Given the description of an element on the screen output the (x, y) to click on. 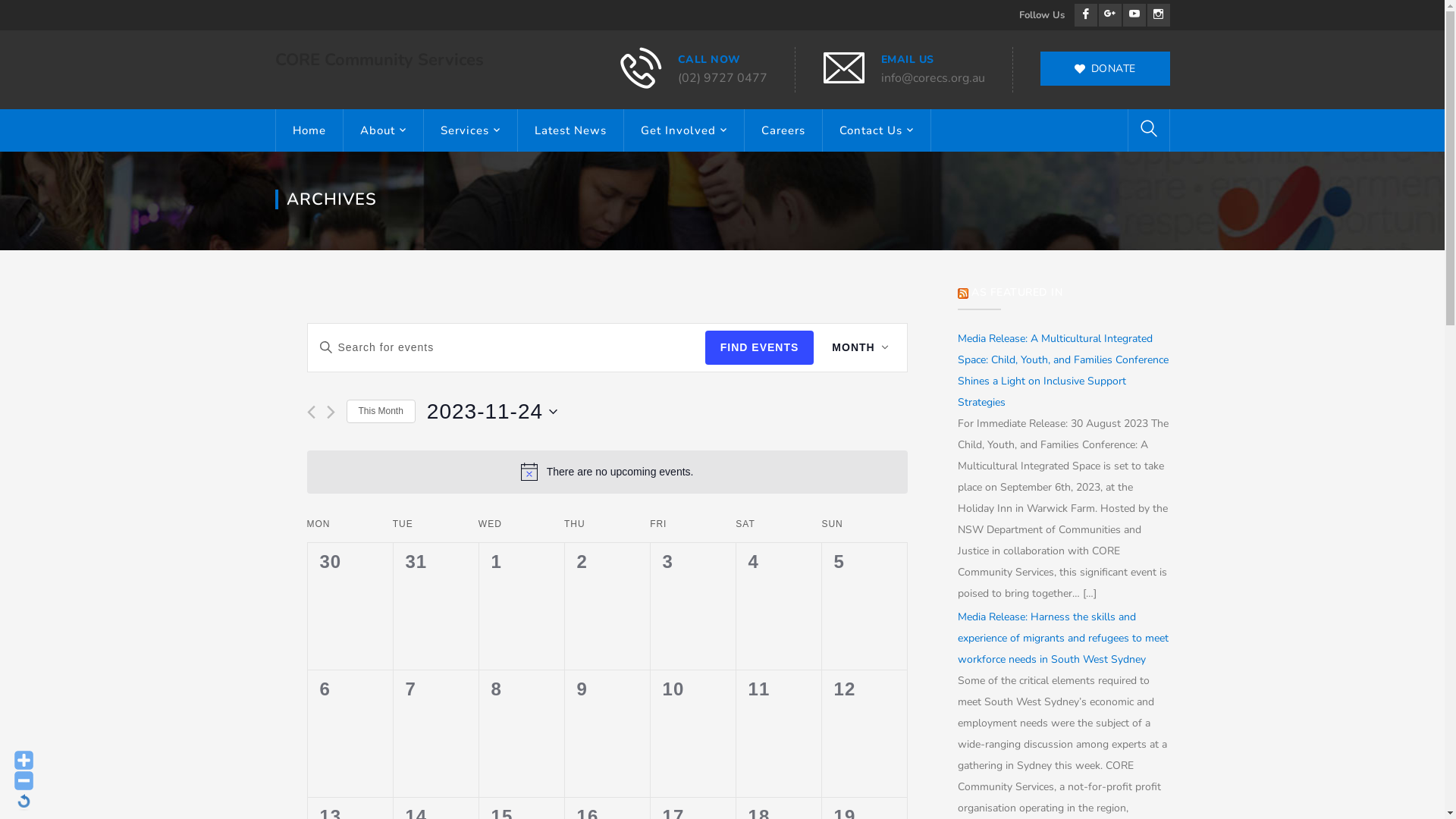
Home Element type: text (309, 130)
AS FEATURED IN Element type: text (1016, 292)
Youtube Profile Element type: text (1133, 14)
Get Involved Element type: text (683, 130)
Services Element type: text (469, 130)
2023-11-24 Element type: text (491, 411)
This Month Element type: text (379, 411)
Default font size Element type: hover (23, 800)
Facebook Profile Element type: text (1084, 14)
FIND EVENTS Element type: text (759, 347)
Instagram Profile Element type: text (1157, 14)
Latest News Element type: text (569, 130)
Google Plus Profile Element type: text (1109, 14)
Decrease font size Element type: hover (23, 780)
Careers Element type: text (783, 130)
info@corecs.org.au Element type: text (933, 77)
Increase font size Element type: hover (23, 759)
DONATE Element type: text (1105, 68)
Previous month Element type: hover (310, 411)
About Element type: text (382, 130)
Next month Element type: hover (330, 411)
CORE Community Services Element type: text (378, 59)
(02) 9727 0477 Element type: text (722, 77)
MONTH Element type: text (859, 347)
Contact Us Element type: text (875, 130)
